Given the description of an element on the screen output the (x, y) to click on. 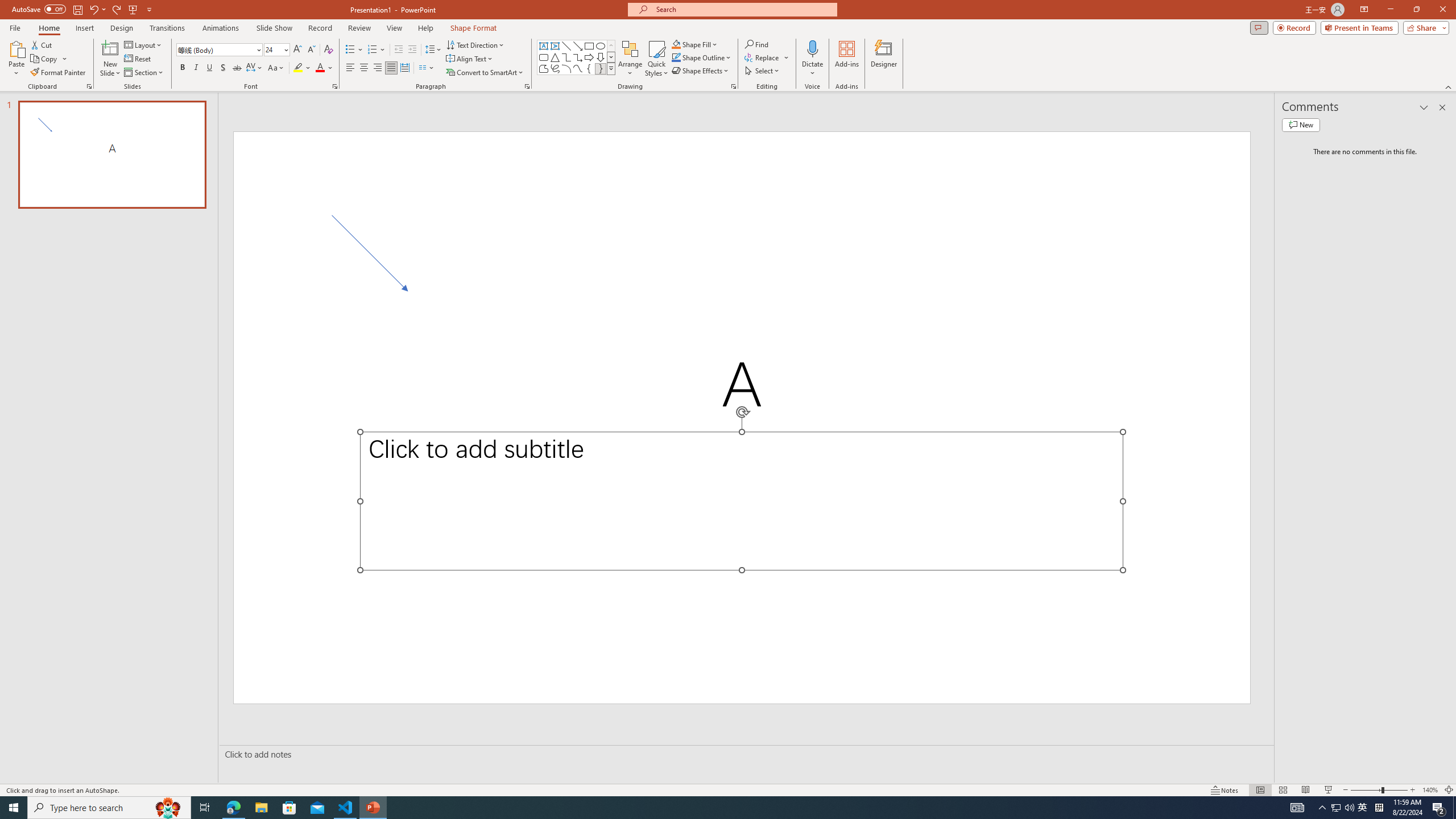
Right Brace (600, 68)
Bold (182, 67)
Arrange (630, 58)
New comment (1300, 124)
Increase Font Size (297, 49)
Align Text (470, 58)
